Given the description of an element on the screen output the (x, y) to click on. 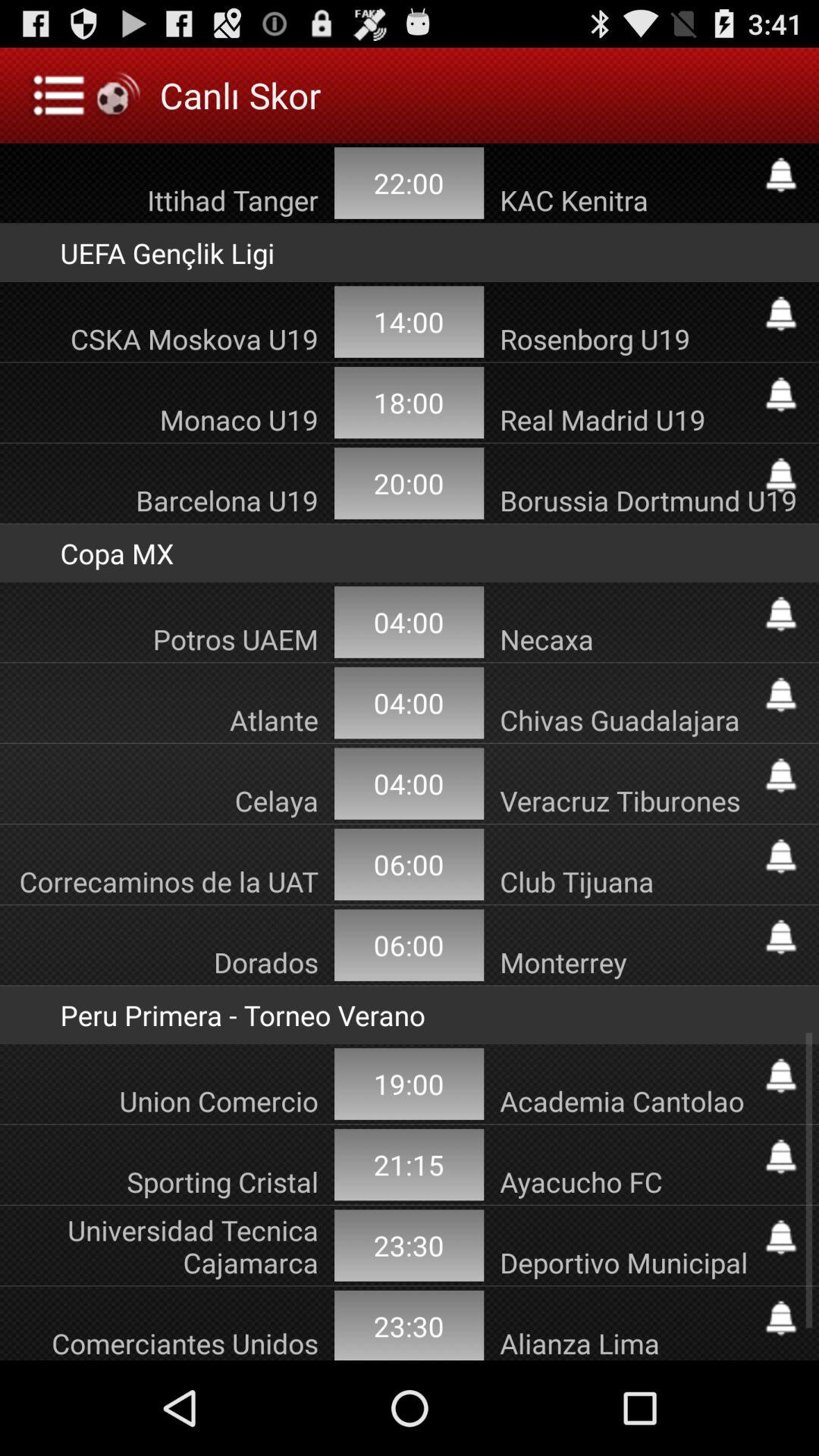
bell button (780, 1156)
